Given the description of an element on the screen output the (x, y) to click on. 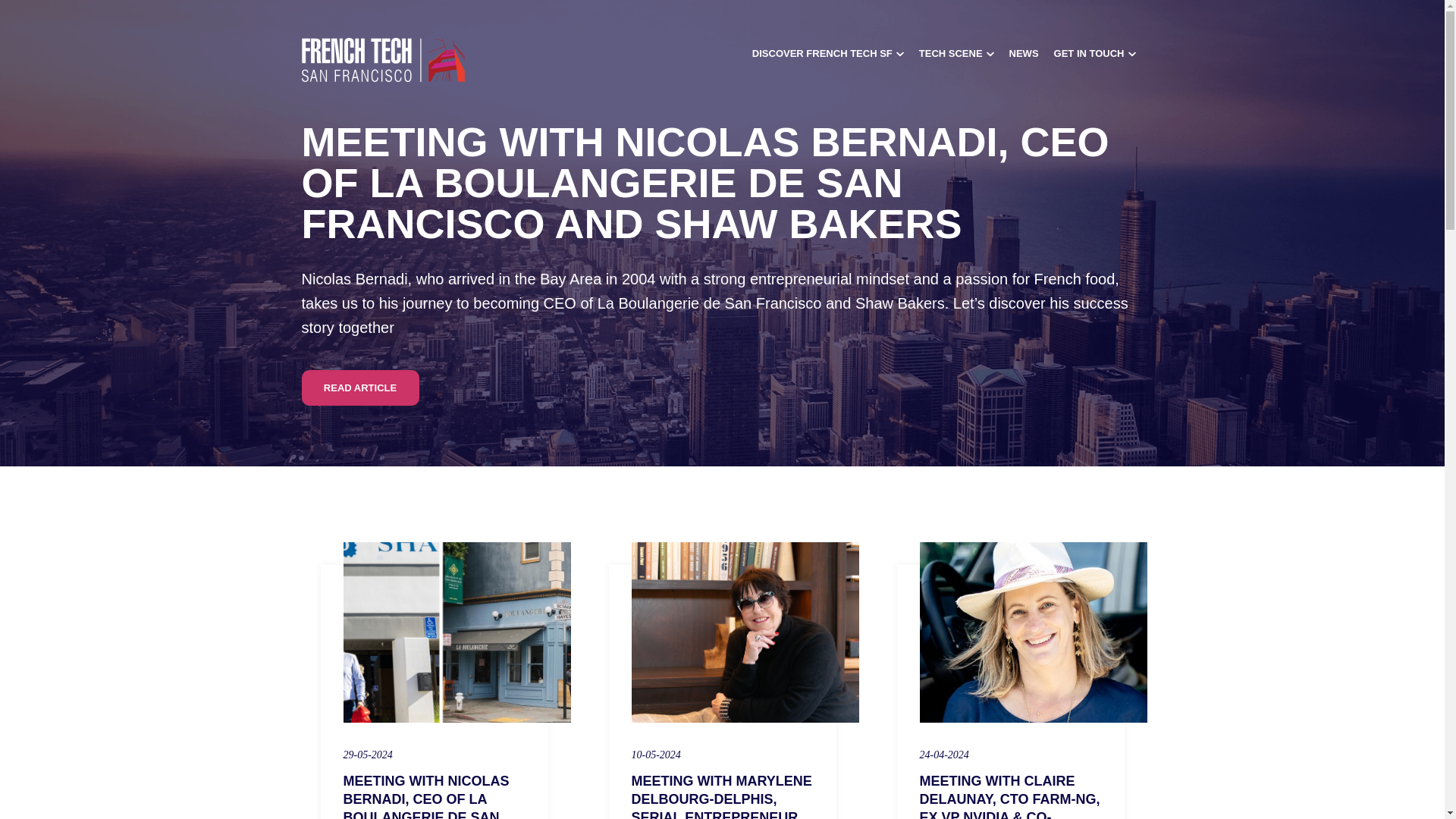
TECH SCENE (956, 52)
DISCOVER FRENCH TECH SF (828, 52)
READ ARTICLE (360, 387)
GET IN TOUCH (1094, 52)
NEWS (1024, 52)
